Given the description of an element on the screen output the (x, y) to click on. 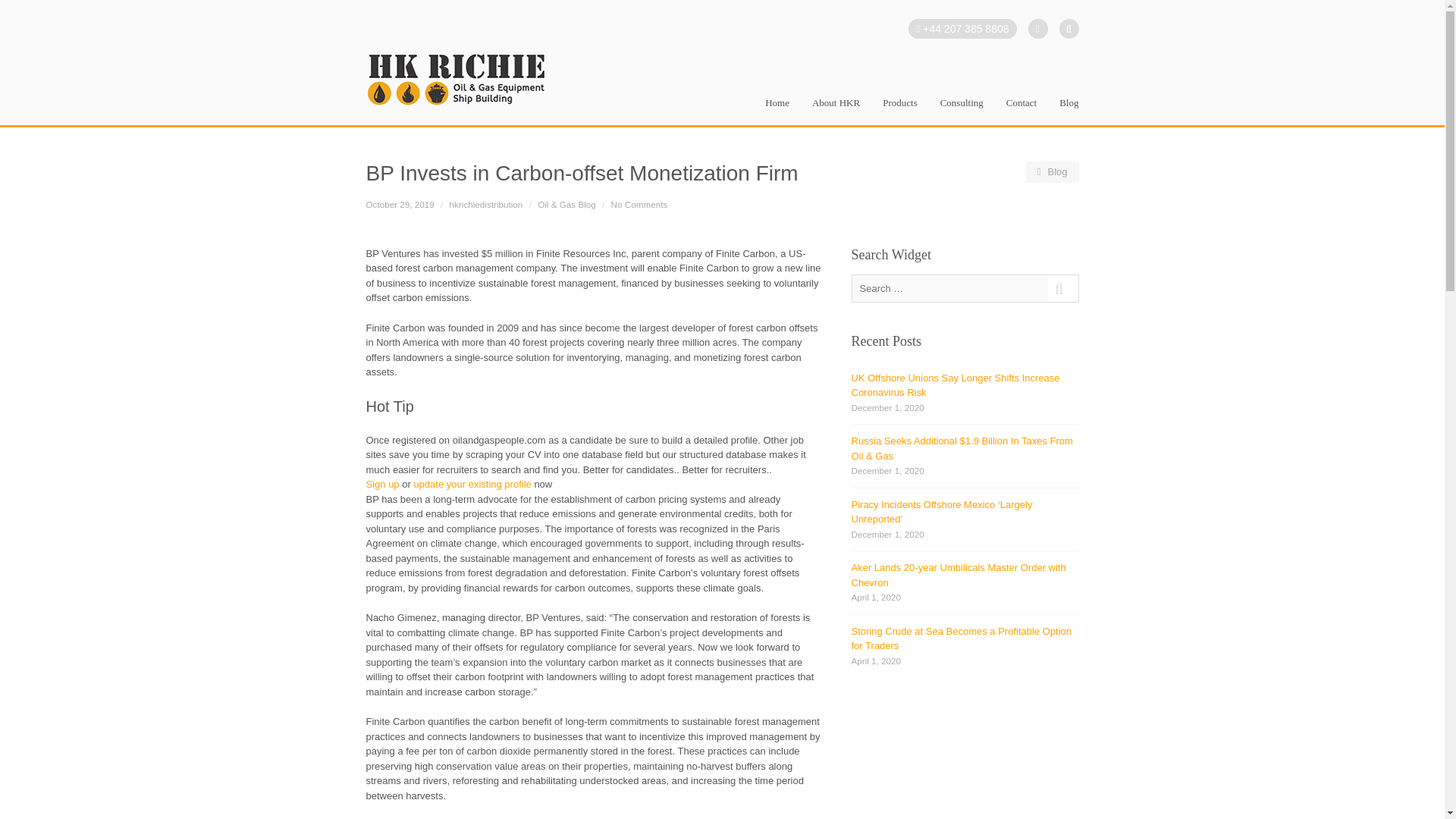
Blog (1050, 171)
About HKR (835, 111)
Contact (1021, 111)
update your existing profile (472, 483)
Home (777, 111)
Blog (1068, 111)
Products (899, 111)
No Comments (639, 204)
hkrichiedistribution (485, 204)
